Given the description of an element on the screen output the (x, y) to click on. 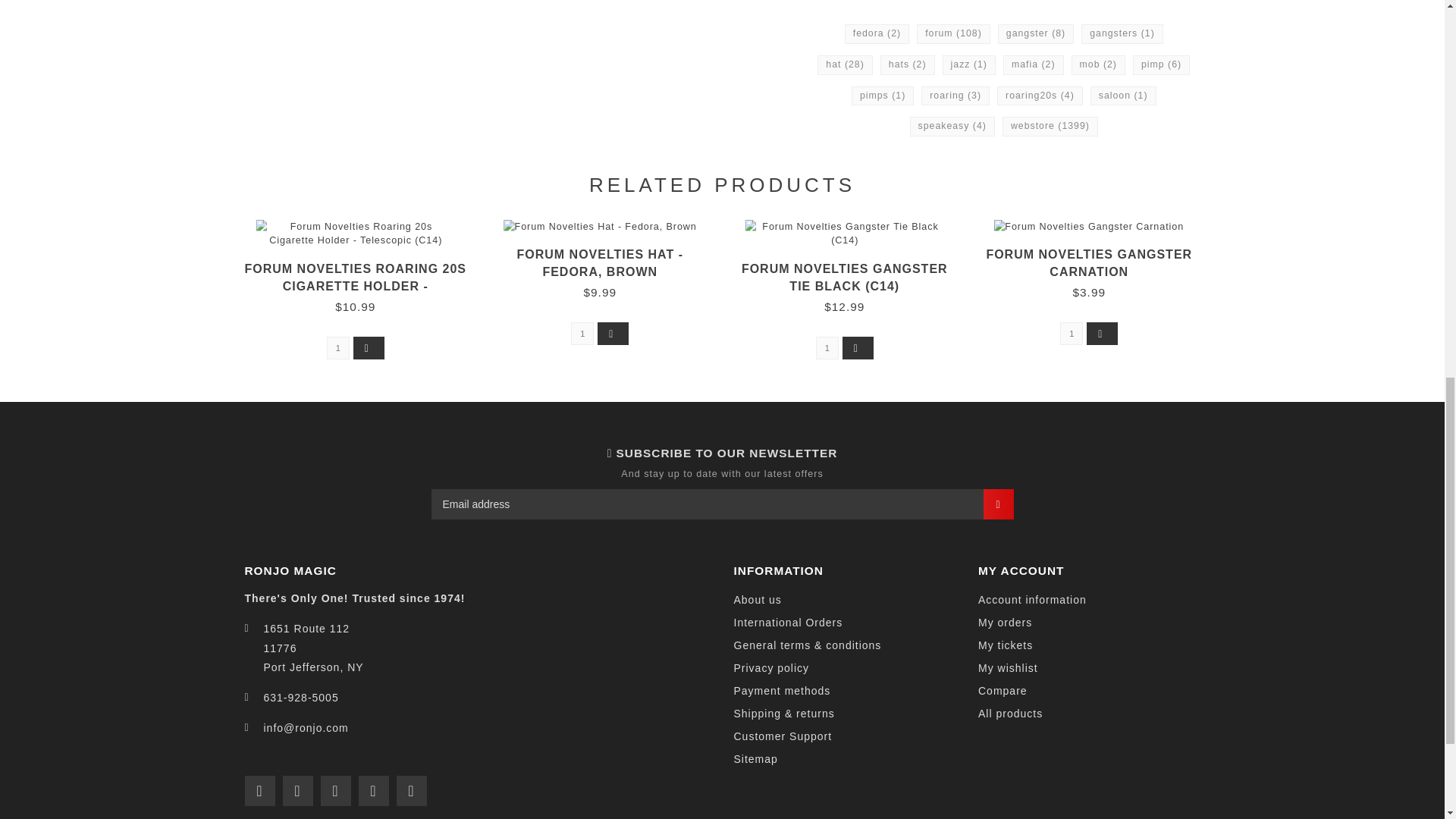
fedora (876, 34)
hats (907, 65)
1 (1071, 333)
1 (337, 347)
forum (953, 34)
1 (582, 333)
roaring (955, 96)
mob (1098, 65)
pimp (1160, 65)
gangsters (1122, 34)
hat (844, 65)
1 (826, 347)
mafia (1033, 65)
pimps (882, 96)
jazz (968, 65)
